Given the description of an element on the screen output the (x, y) to click on. 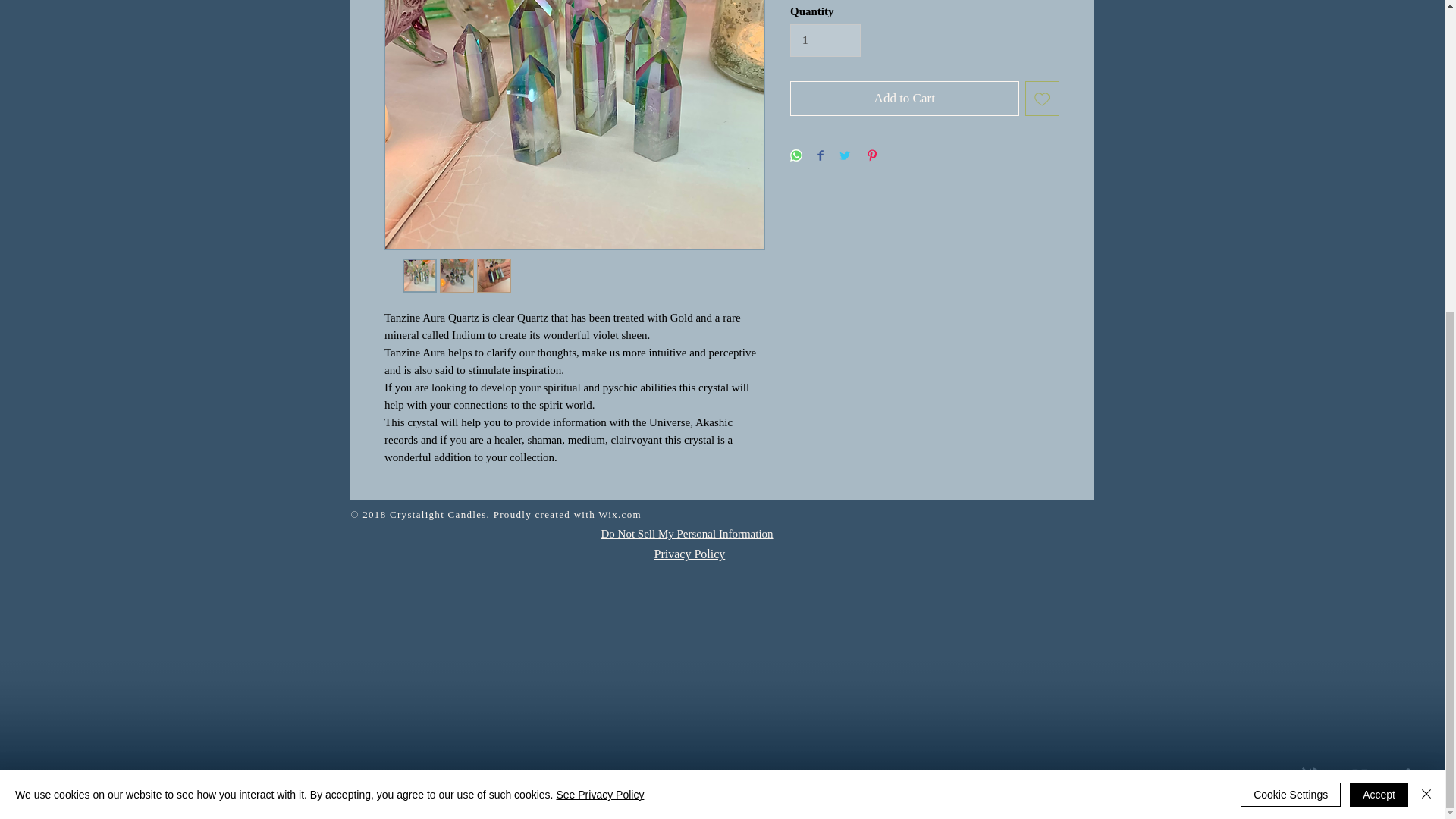
1 (825, 40)
Wix.com (620, 514)
See Privacy Policy (599, 296)
Do Not Sell My Personal Information (686, 534)
Accept (1378, 296)
Cookie Settings (1290, 296)
Privacy Policy (689, 553)
Add to Cart (904, 98)
